Given the description of an element on the screen output the (x, y) to click on. 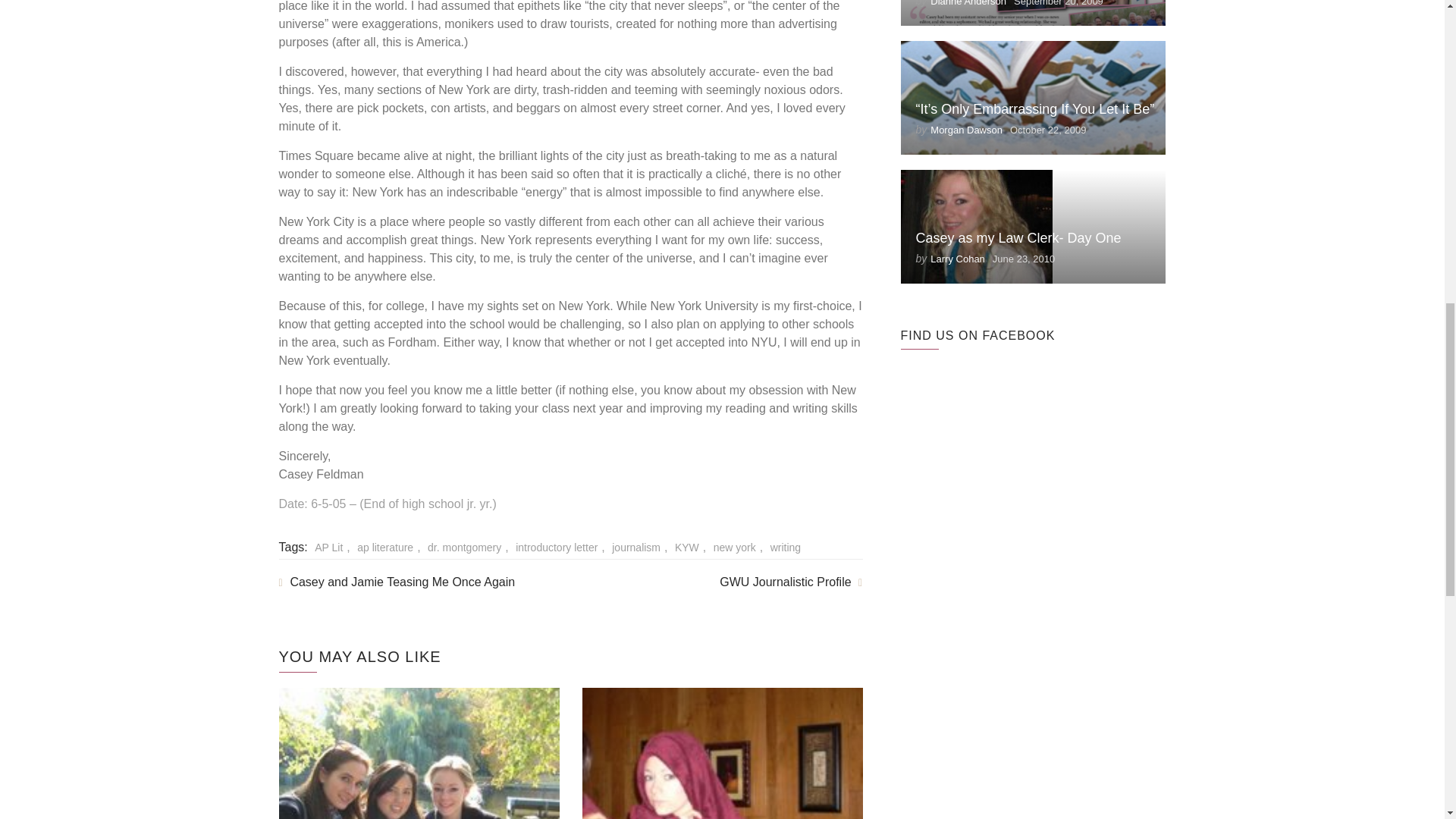
next post (790, 576)
prev post (397, 576)
